Given the description of an element on the screen output the (x, y) to click on. 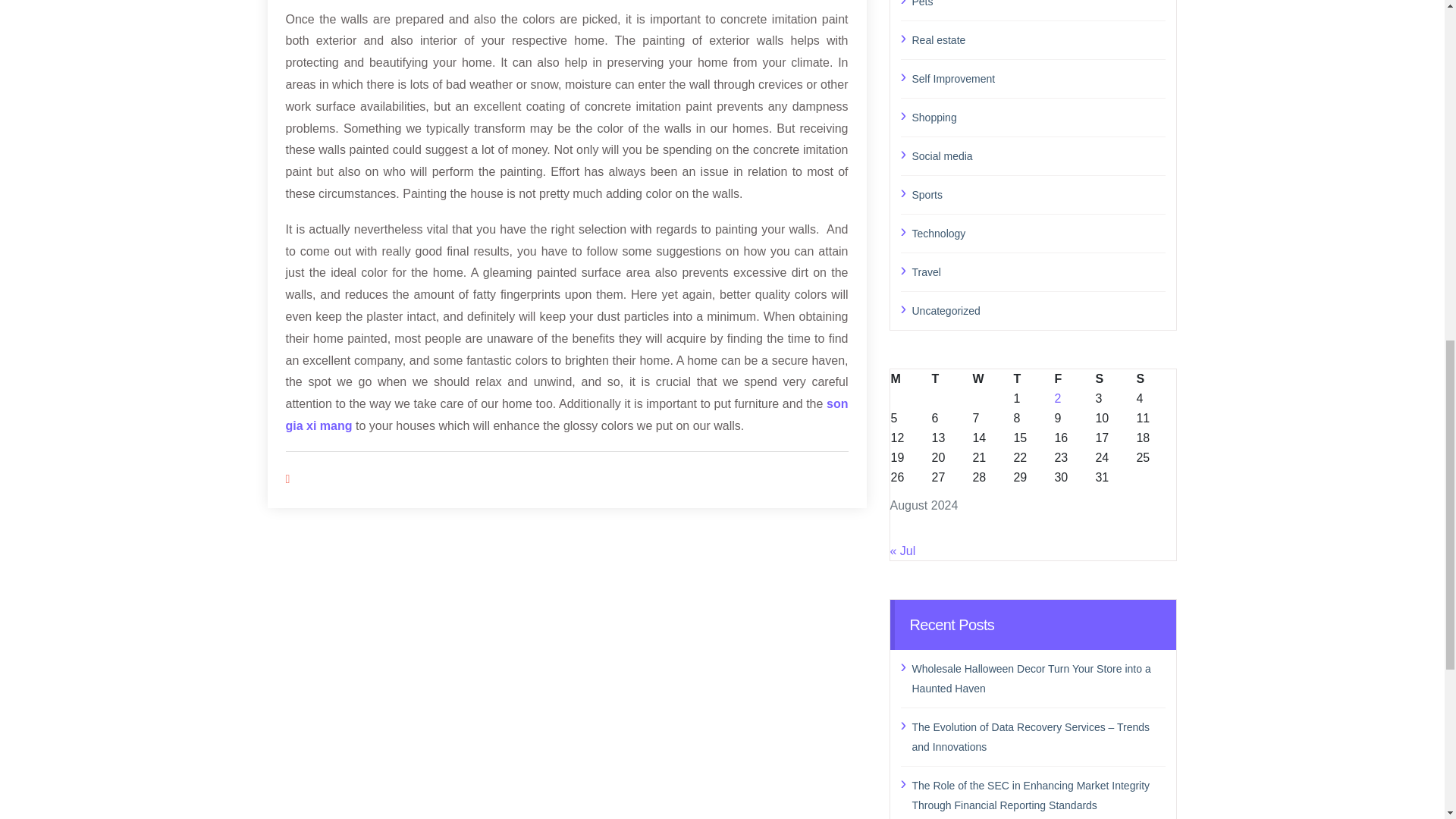
Thursday (1031, 378)
Monday (910, 378)
Real estate (1038, 39)
son gia xi mang (566, 414)
Social media (1038, 155)
Wednesday (991, 378)
Tuesday (950, 378)
Travel (1038, 271)
Sunday (1155, 378)
Sports (1038, 194)
Pets (1038, 5)
Self Improvement (1038, 77)
Technology (1038, 232)
Friday (1073, 378)
